Given the description of an element on the screen output the (x, y) to click on. 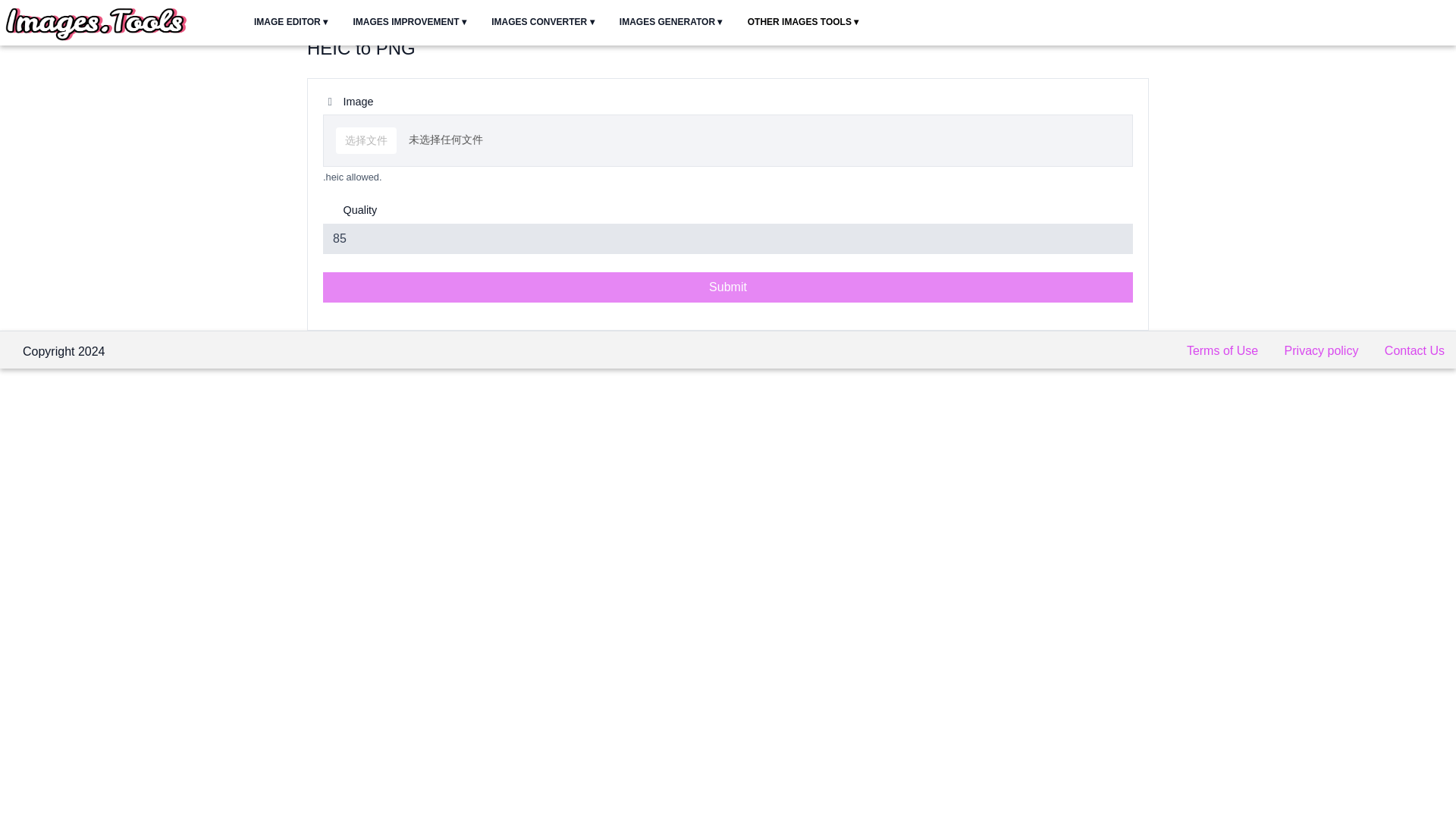
85 (727, 238)
